Given the description of an element on the screen output the (x, y) to click on. 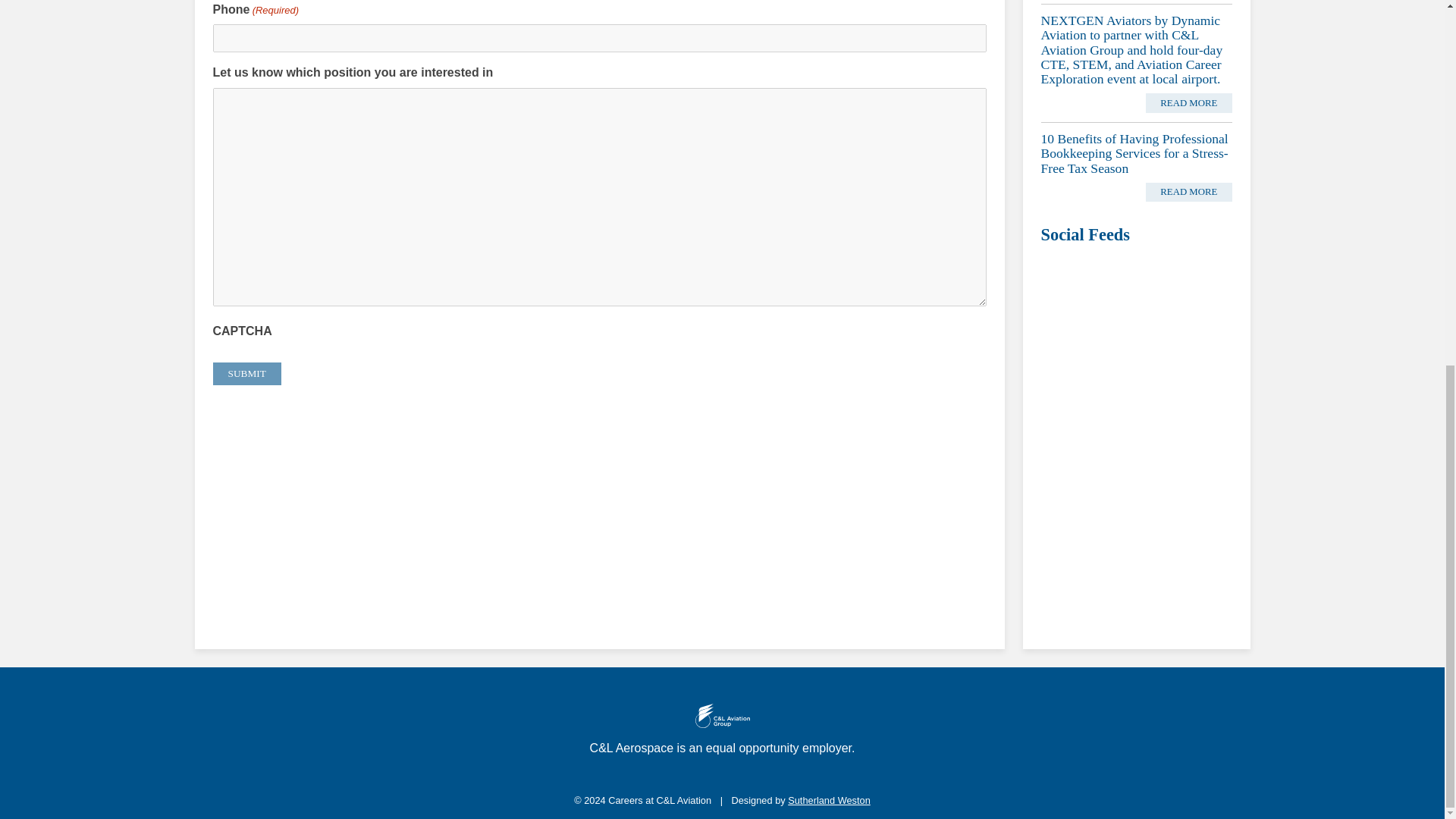
READ MORE (1188, 192)
Submit (246, 373)
Sutherland Weston (828, 799)
Submit (246, 373)
READ MORE (1188, 103)
